Given the description of an element on the screen output the (x, y) to click on. 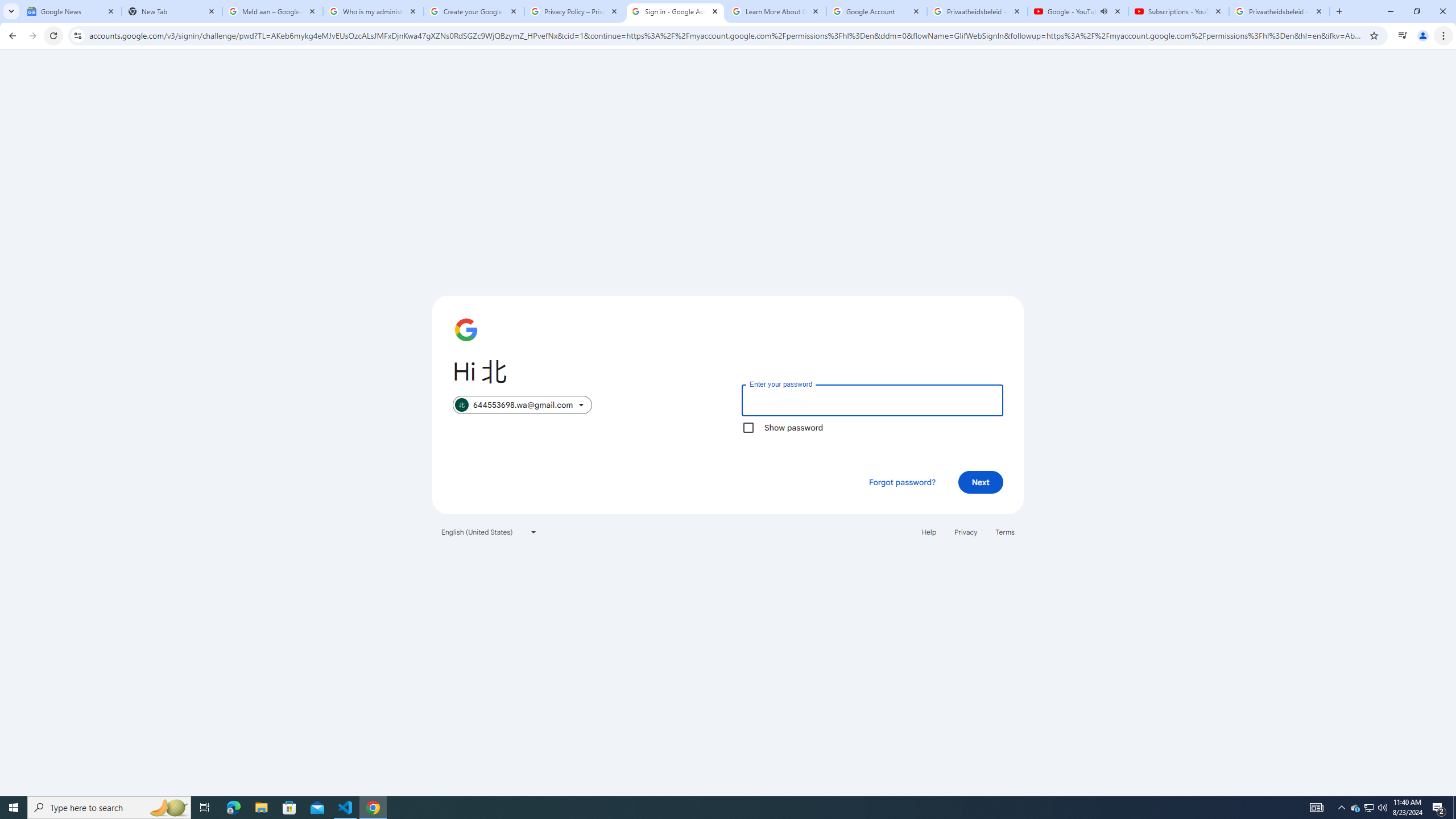
Subscriptions - YouTube (1178, 11)
Create your Google Account (474, 11)
Google - YouTube - Audio playing (1078, 11)
Google News (71, 11)
Show password (748, 427)
